Given the description of an element on the screen output the (x, y) to click on. 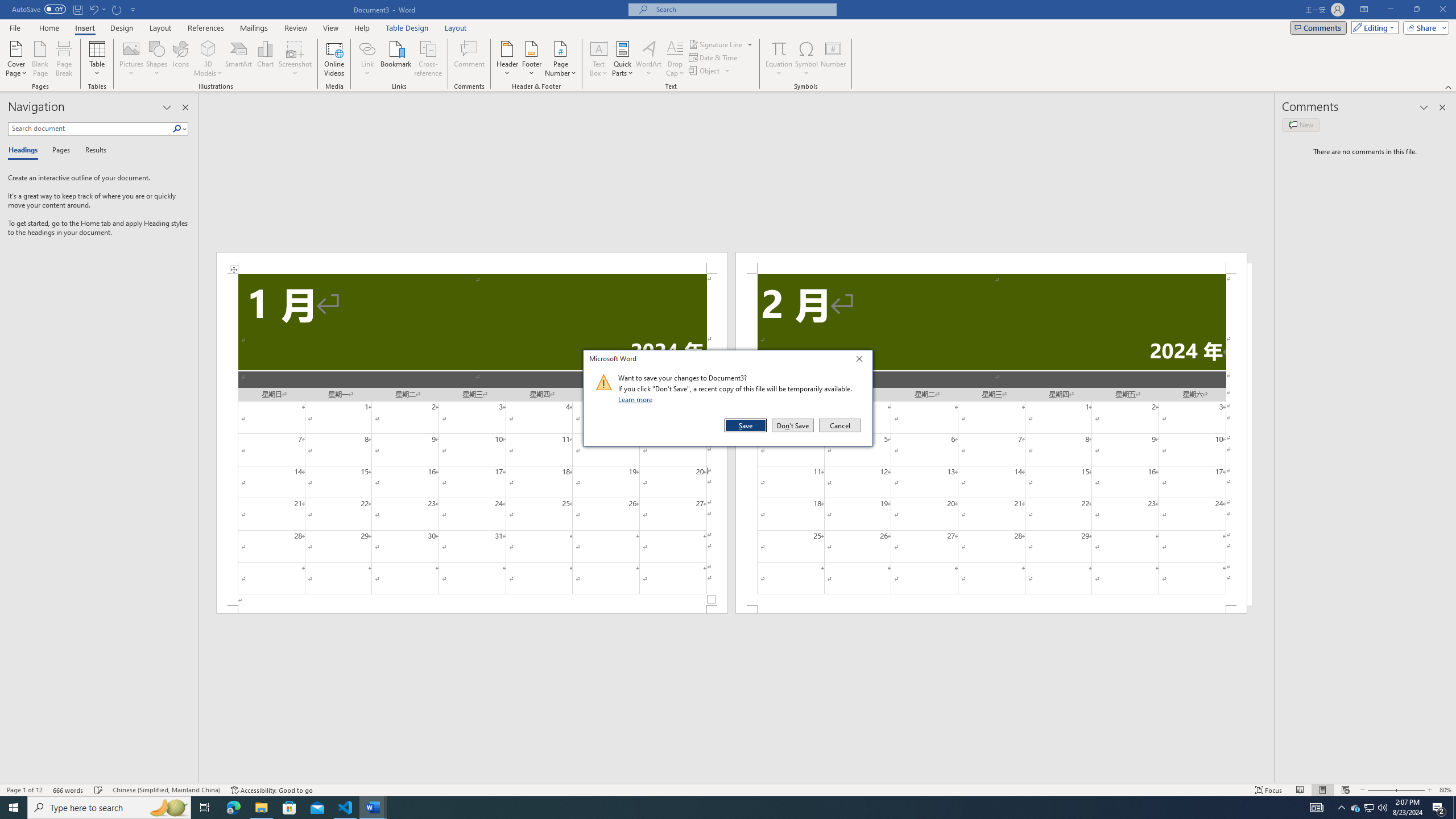
Footer -Section 1- (471, 609)
Microsoft search (742, 9)
Drop Cap (674, 58)
Focus  (1268, 790)
References (205, 28)
Ribbon Display Options (1364, 9)
Q2790: 100% (1382, 807)
Customize Quick Access Toolbar (133, 9)
Type here to search (108, 807)
File Explorer - 1 running window (261, 807)
Equation (778, 48)
Search highlights icon opens search home window (167, 807)
Accessibility Checker Accessibility: Good to go (271, 790)
